Given the description of an element on the screen output the (x, y) to click on. 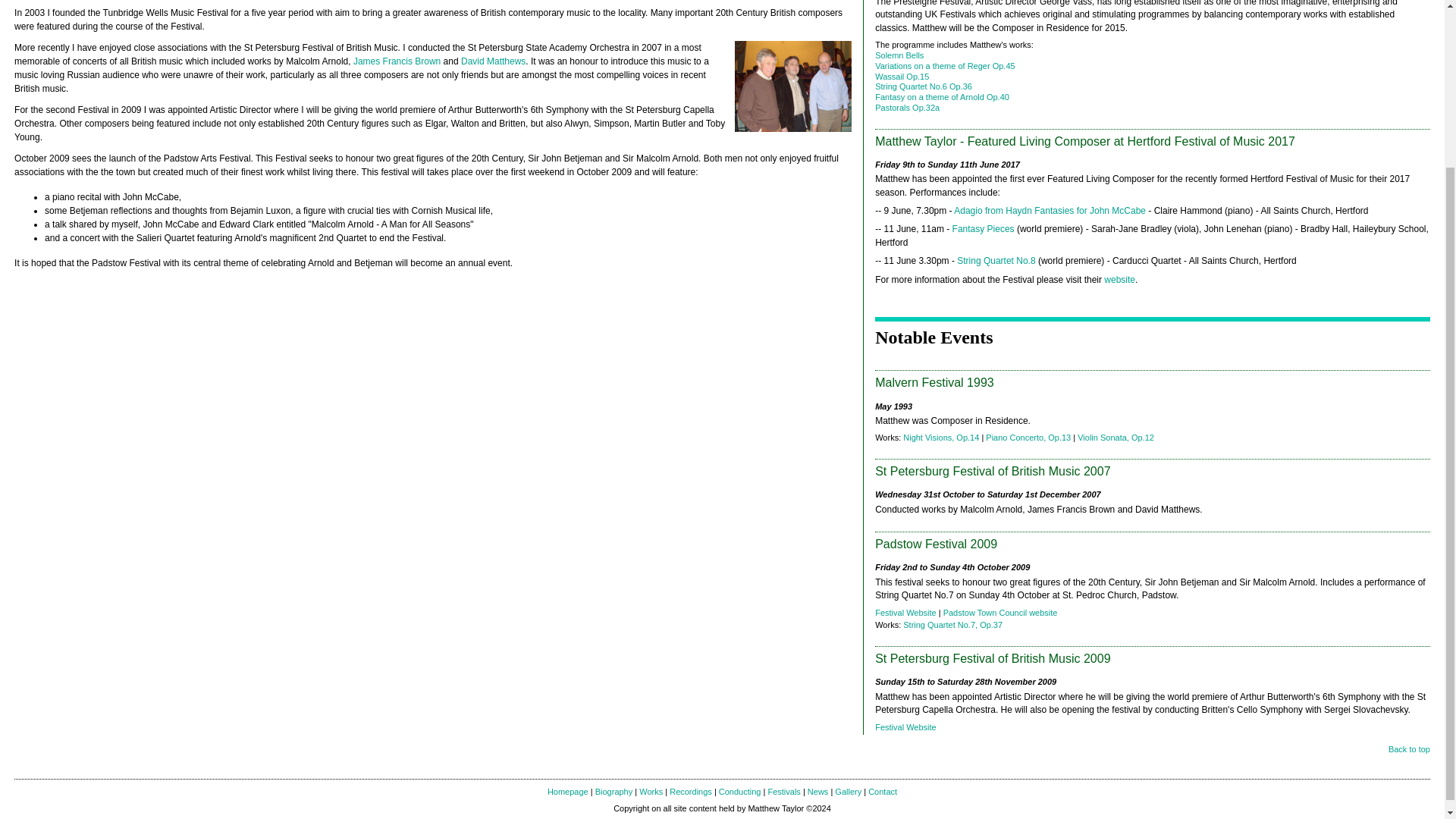
String Quartet No.6 Op.36 (923, 85)
Fantasy on a theme of Arnold Op.40 (942, 96)
James Francis Brown (397, 61)
Solemn Bells (899, 54)
Pastorals Op.32a (907, 107)
Adagio from Haydn Fantasies for John McCabe (1049, 210)
Variations on a theme of Reger Op.45 (944, 65)
David Matthews (493, 61)
Wassail Op.15 (901, 76)
